Given the description of an element on the screen output the (x, y) to click on. 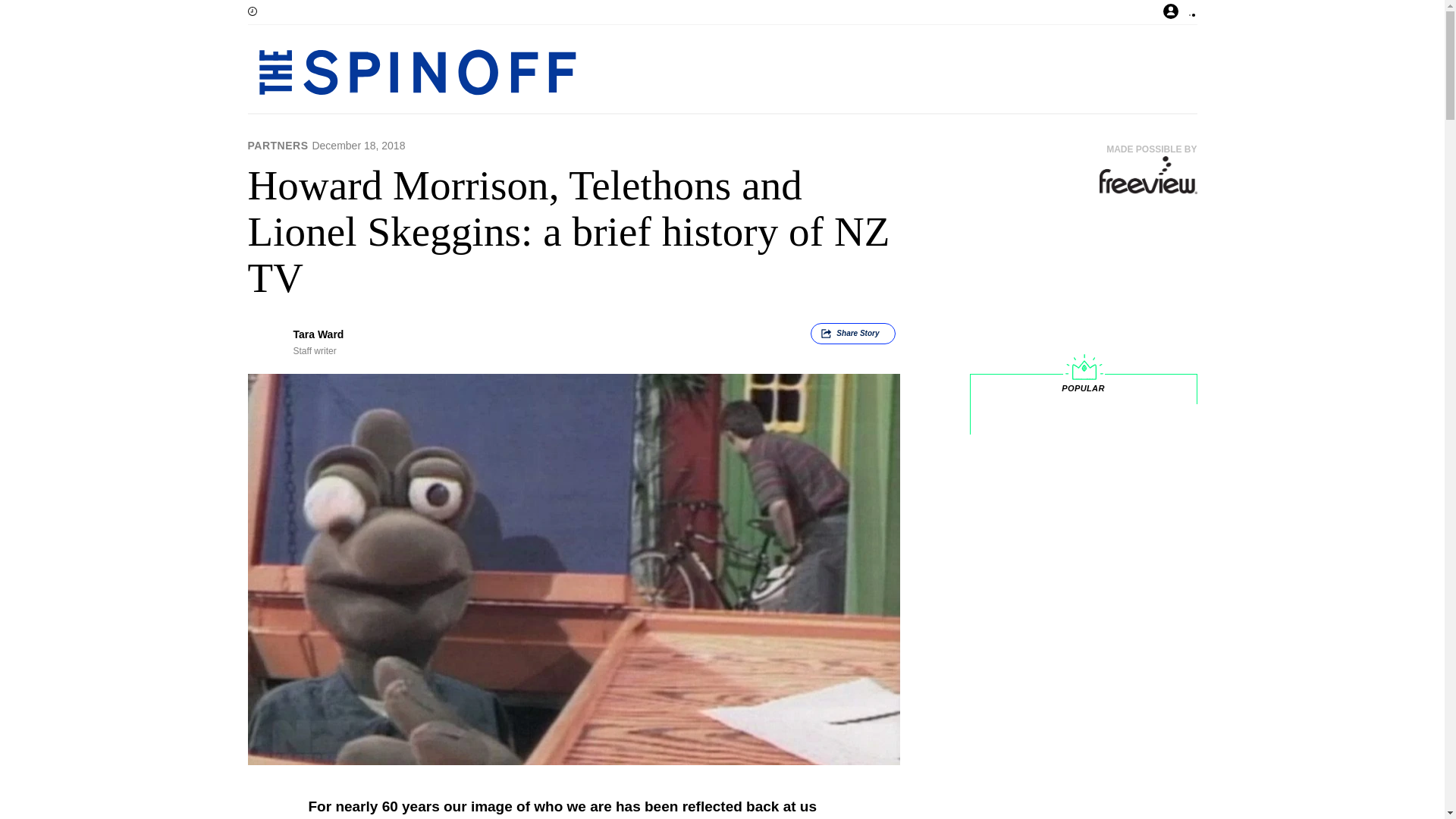
view all posts by Tara Ward (317, 334)
PARTNERS (277, 145)
Tara Ward (317, 334)
The Spinoff (673, 72)
